Given the description of an element on the screen output the (x, y) to click on. 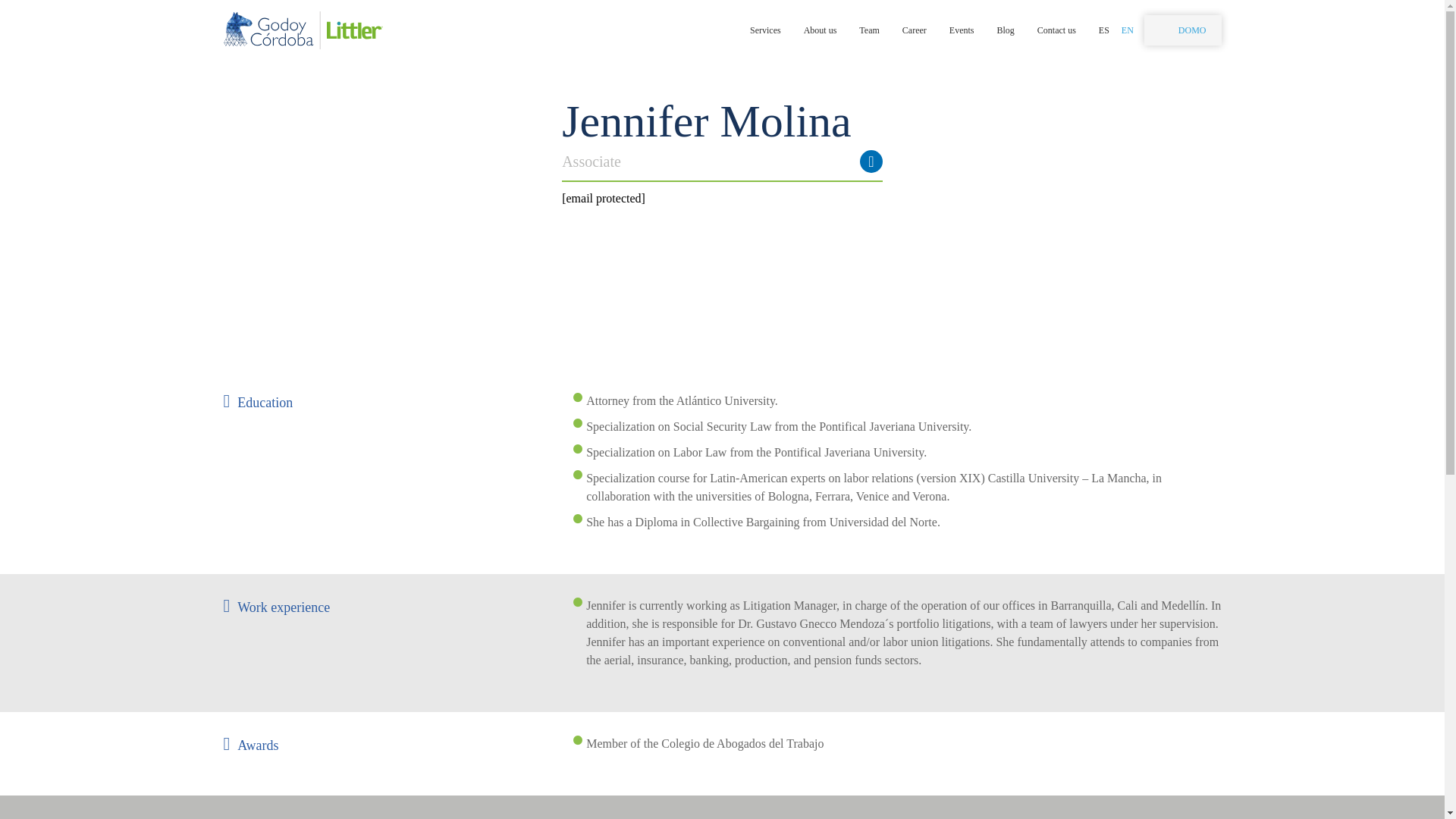
ES (1104, 30)
EN (1127, 30)
Career (914, 30)
Team (868, 30)
Contact us (1056, 30)
Events (961, 30)
Blog (1005, 30)
DOMO (1182, 30)
Services (765, 30)
About us (820, 30)
